Given the description of an element on the screen output the (x, y) to click on. 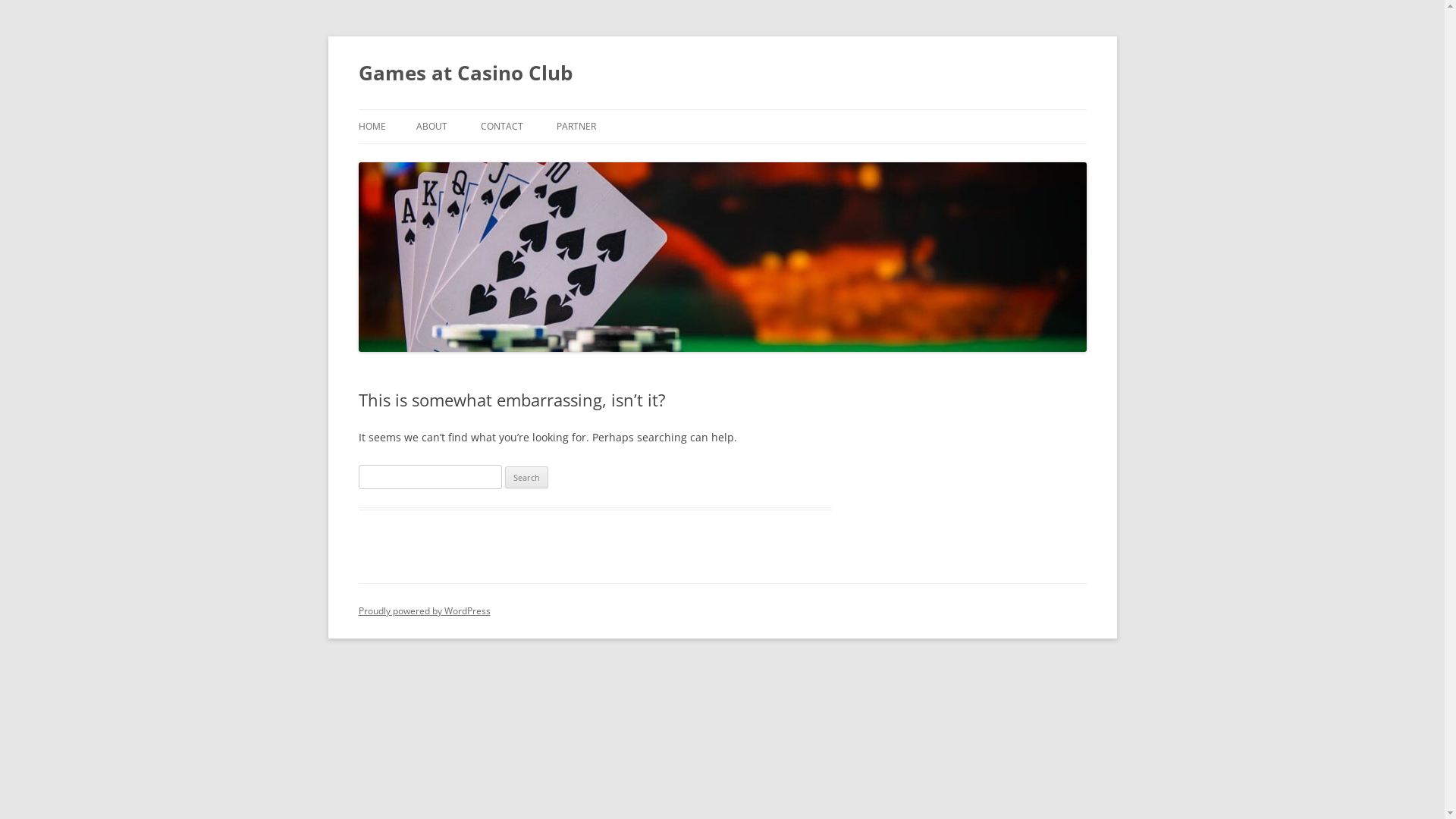
ABOUT Element type: text (430, 126)
HOME Element type: text (371, 126)
Skip to content Element type: text (721, 109)
PARTNER Element type: text (576, 126)
Games at Casino Club Element type: text (464, 72)
CONTACT Element type: text (501, 126)
Proudly powered by WordPress Element type: text (423, 609)
Search Element type: text (526, 476)
